Given the description of an element on the screen output the (x, y) to click on. 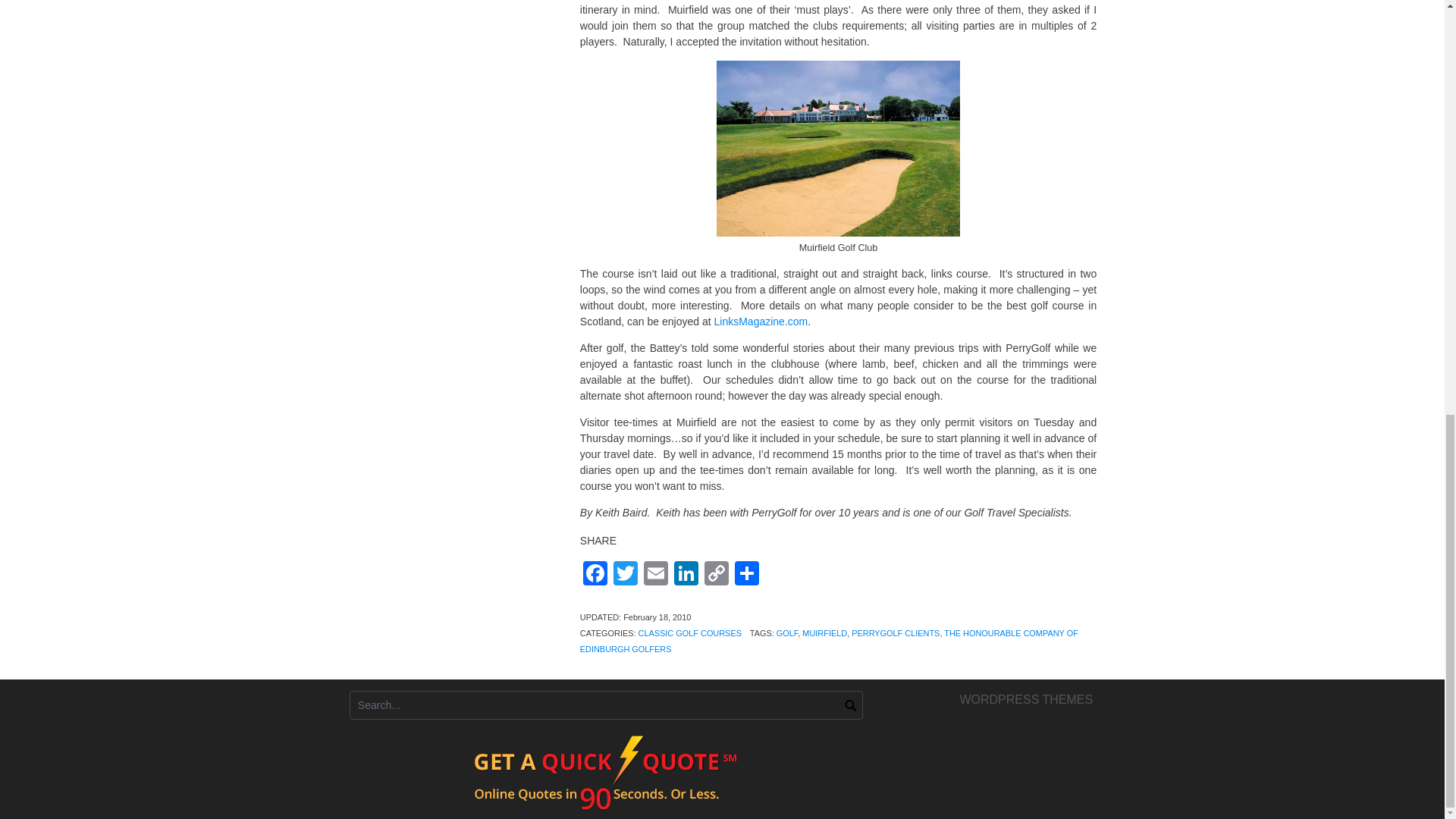
Search for: (606, 705)
Email (655, 574)
Twitter (625, 574)
LinksMagazine.com (761, 321)
LinkedIn (686, 574)
Facebook (594, 574)
Copy Link (716, 574)
Facebook (594, 574)
